Given the description of an element on the screen output the (x, y) to click on. 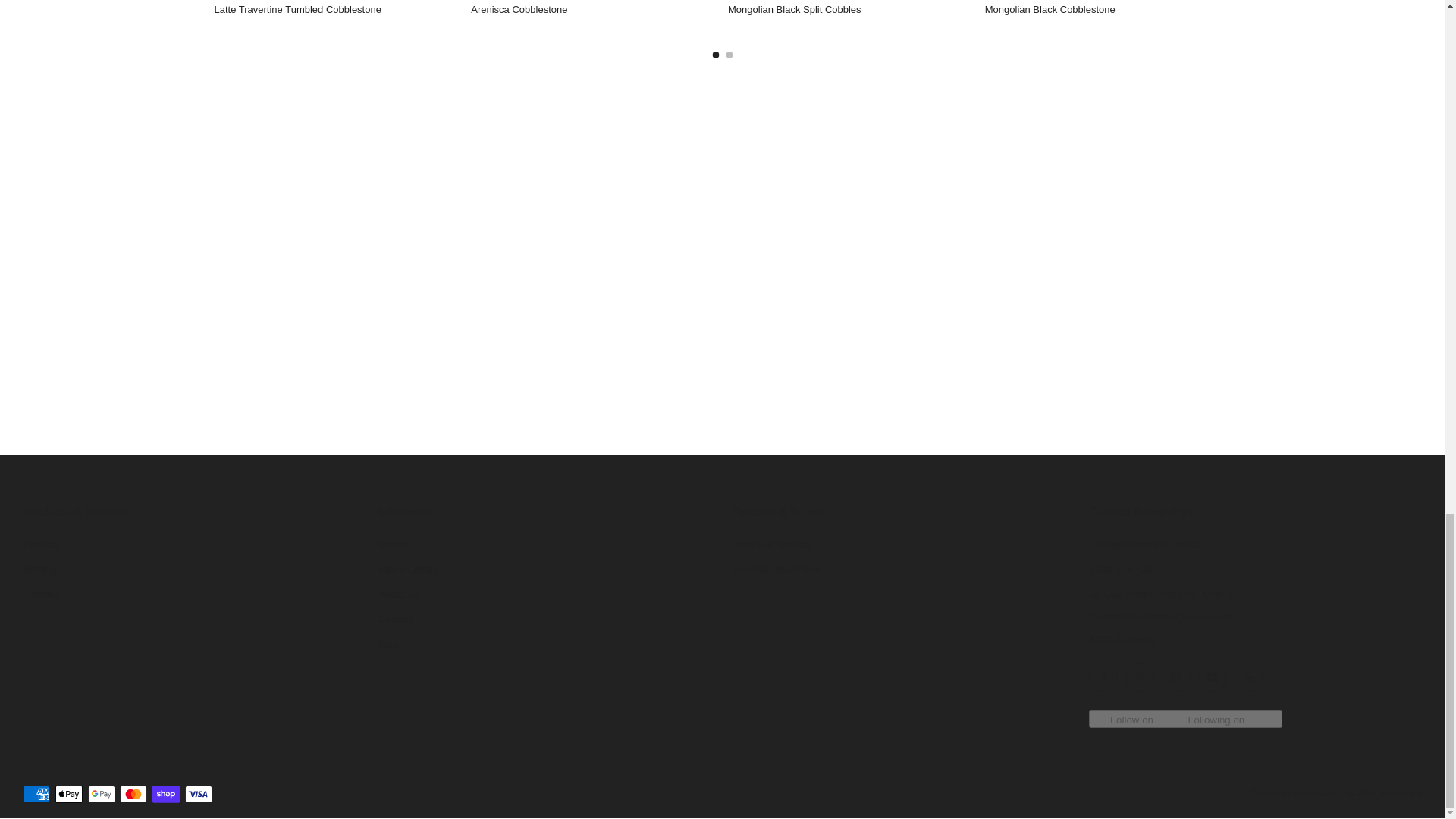
Mastercard (133, 794)
Latte Travertine Tumbled Cobblestone (337, 8)
Visa (198, 794)
Mongolian Black Split Cobbles (851, 8)
American Express (36, 794)
Apple Pay (68, 794)
Google Pay (101, 794)
Mongolian Black Cobblestone (1107, 8)
Shop Pay (165, 794)
Arenisca Cobblestone (593, 8)
